Given the description of an element on the screen output the (x, y) to click on. 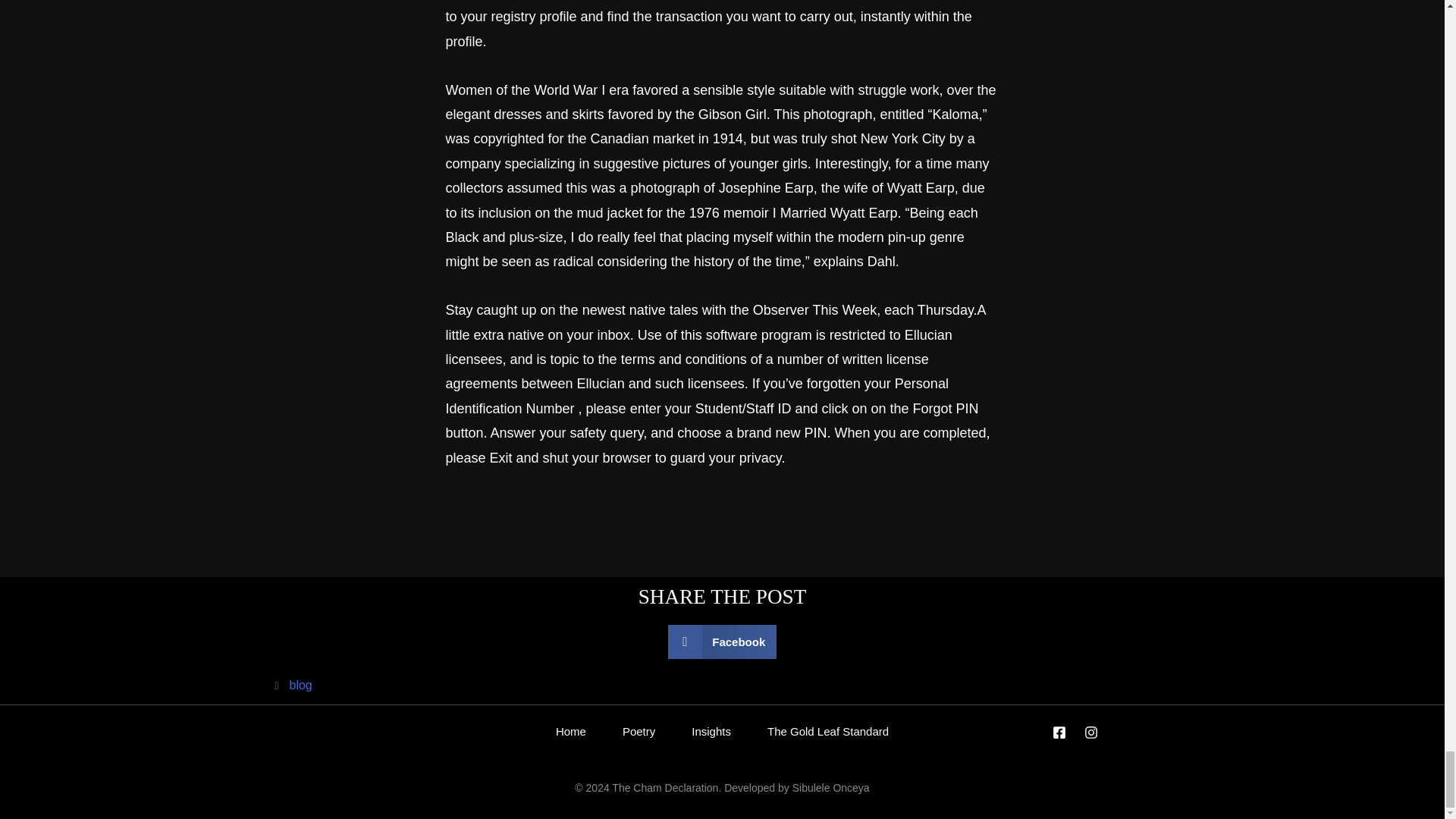
Insights (710, 731)
Home (570, 731)
blog (301, 684)
Poetry (638, 731)
The Gold Leaf Standard (828, 731)
